Given the description of an element on the screen output the (x, y) to click on. 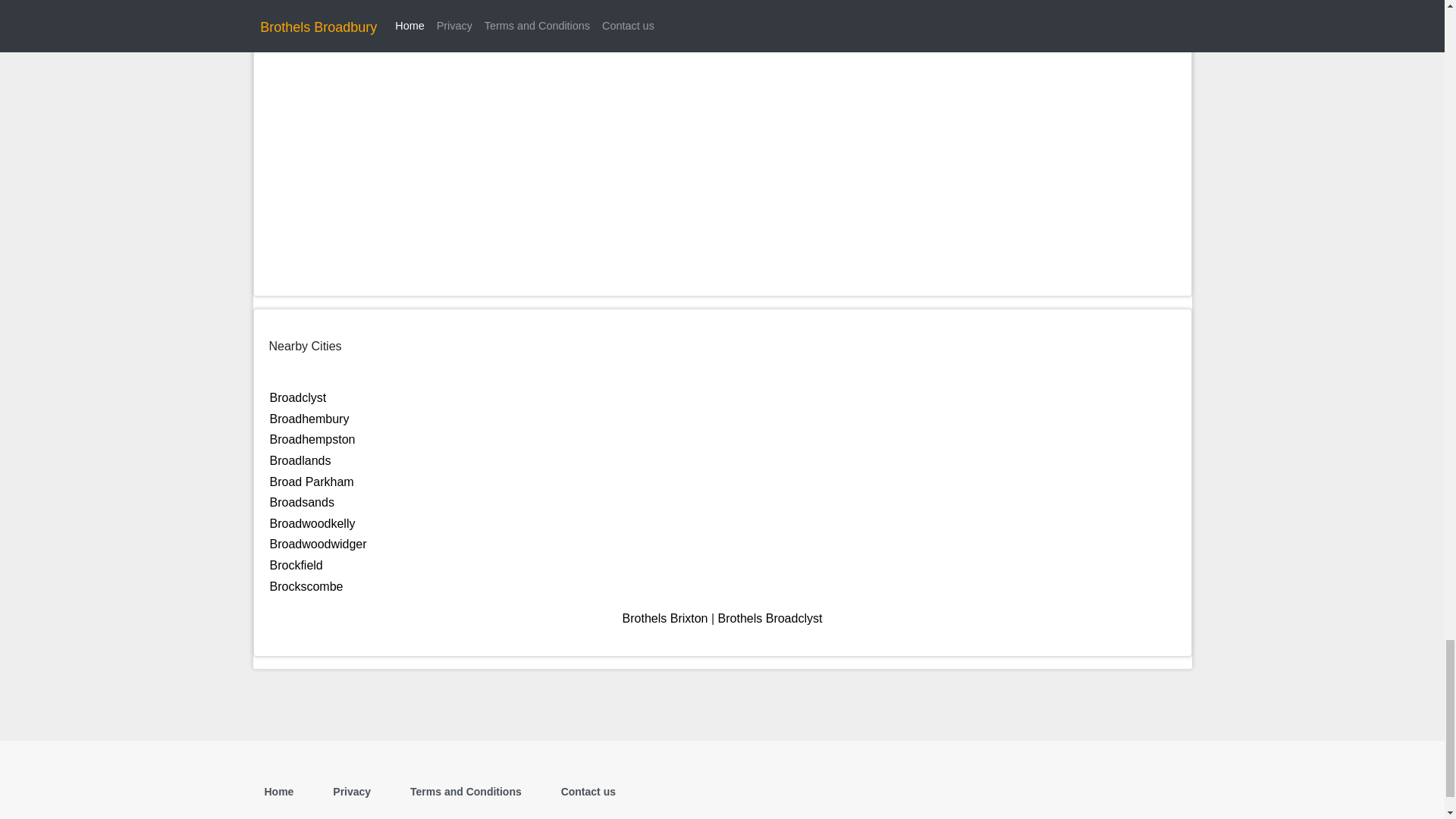
Broadlands (300, 460)
Brothels Broadclyst (769, 617)
Broadhembury (309, 418)
Brockfield (296, 564)
Brothels Brixton (665, 617)
Broadsands (301, 502)
Broadhempston (312, 439)
Broad Parkham (311, 481)
Broadwoodkelly (312, 522)
Brockscombe (306, 585)
Broadwoodwidger (317, 543)
Broadclyst (297, 397)
